Given the description of an element on the screen output the (x, y) to click on. 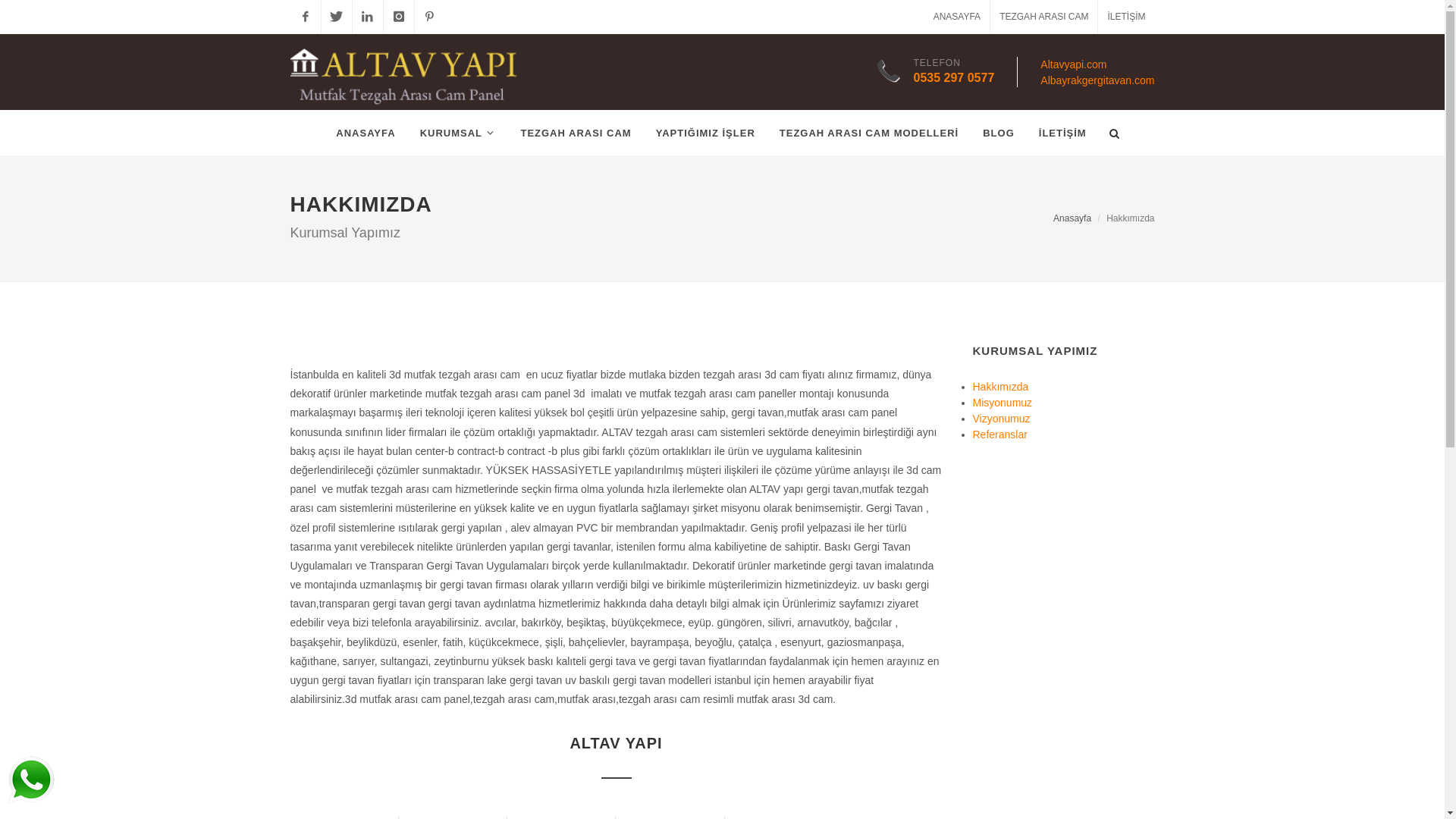
TEZGAH ARASI CAM Element type: text (1043, 16)
TEZGAH ARASI CAM MODELLERI Element type: text (868, 133)
Altavyapi.com Element type: text (1073, 64)
ANASAYFA Element type: text (956, 16)
ANASAYFA Element type: text (365, 133)
Misyonumuz Element type: text (1002, 401)
KURUMSAL Element type: text (458, 133)
Referanslar Element type: text (999, 433)
BLOG Element type: text (998, 133)
TEZGAH ARASI CAM Element type: text (575, 133)
Vizyonumuz Element type: text (1000, 418)
Anasayfa Element type: text (1072, 217)
Albayrakgergitavan.com Element type: text (1097, 80)
